Given the description of an element on the screen output the (x, y) to click on. 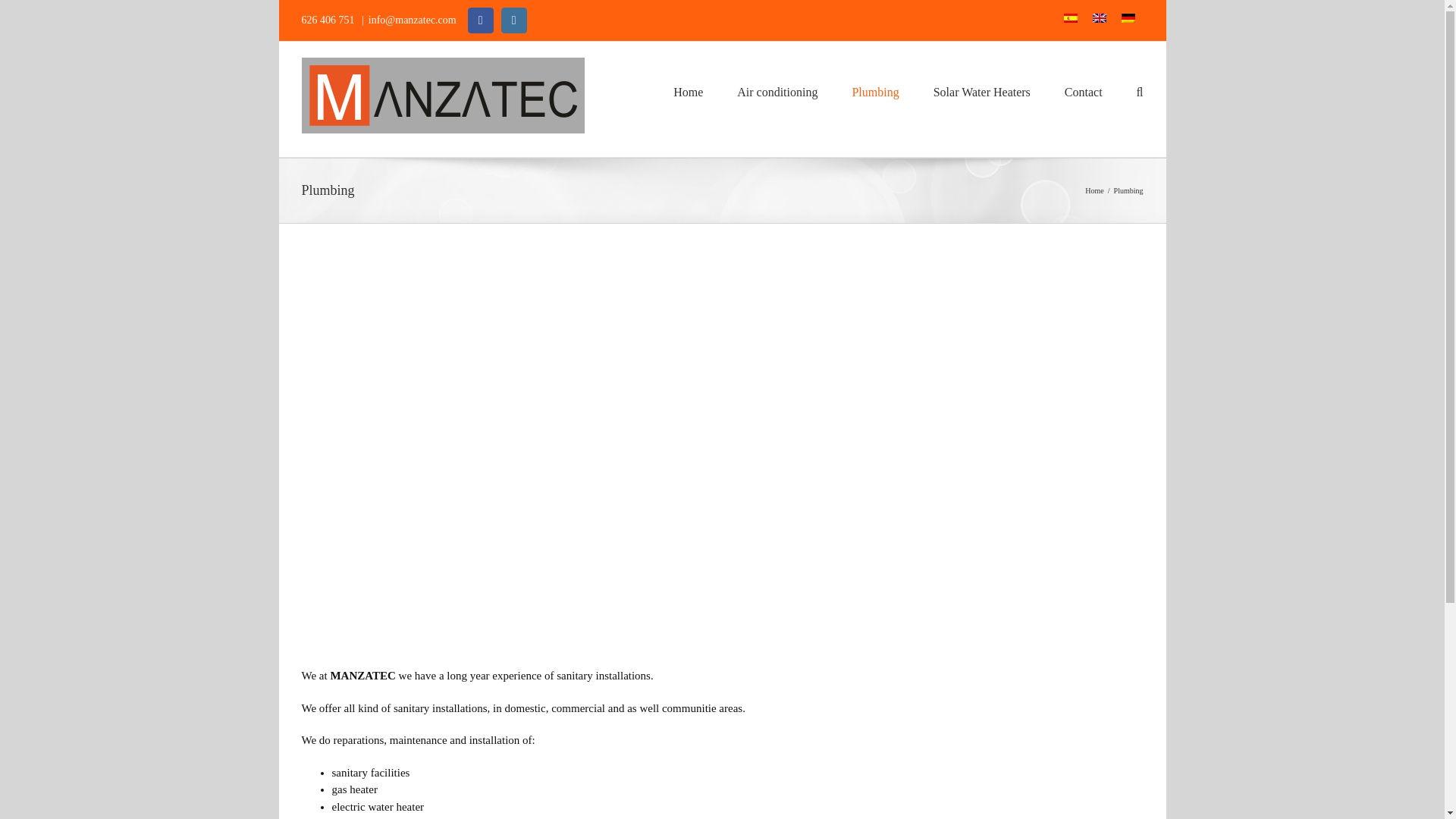
Deutsch (1127, 20)
 Deutsch (1127, 20)
Home (1093, 190)
English (1098, 20)
Instagram (513, 20)
Facebook (480, 20)
 English (1098, 20)
